Given the description of an element on the screen output the (x, y) to click on. 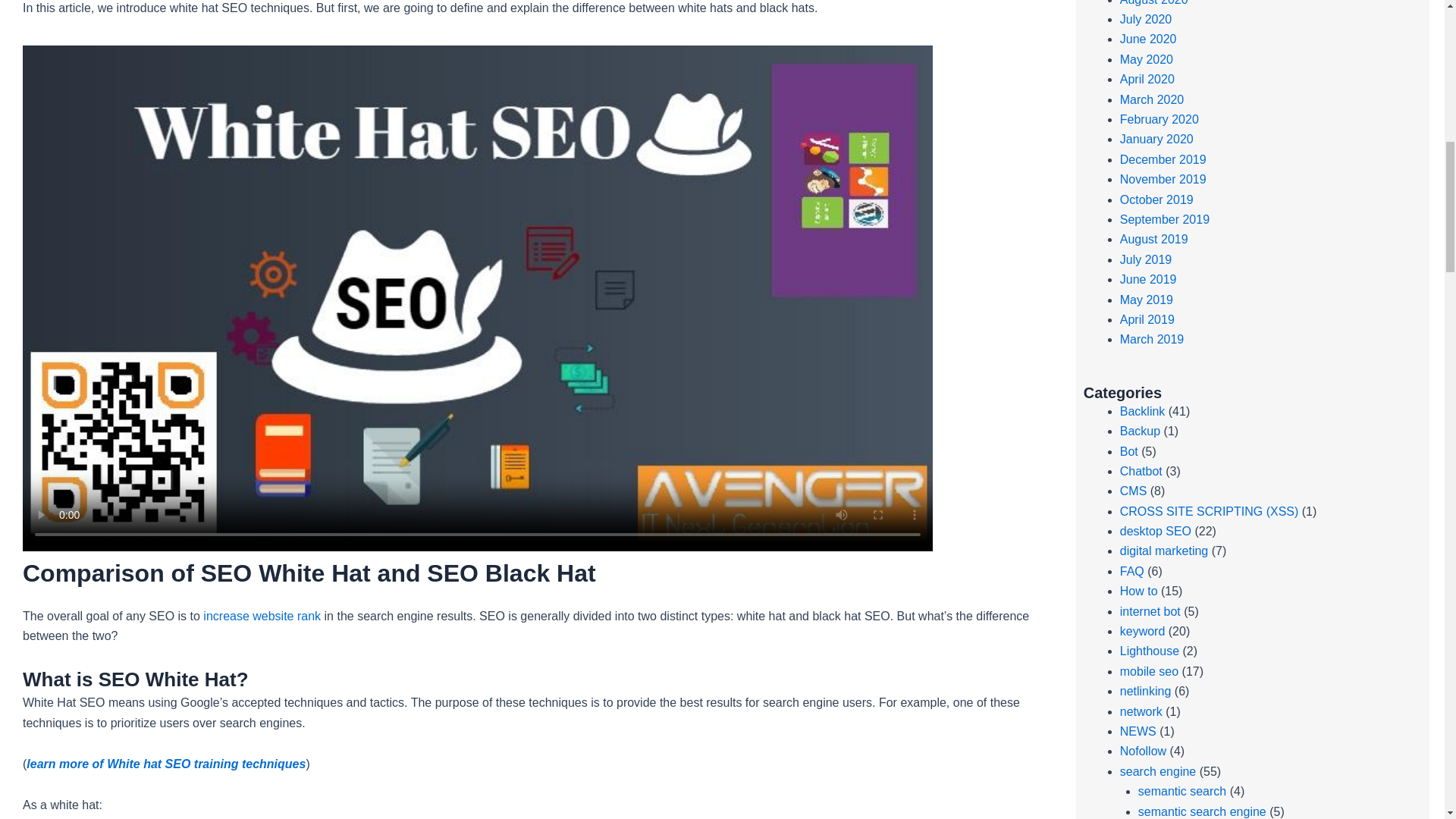
learn more of White hat SEO training techniques (165, 763)
increase website rank (261, 615)
